Given the description of an element on the screen output the (x, y) to click on. 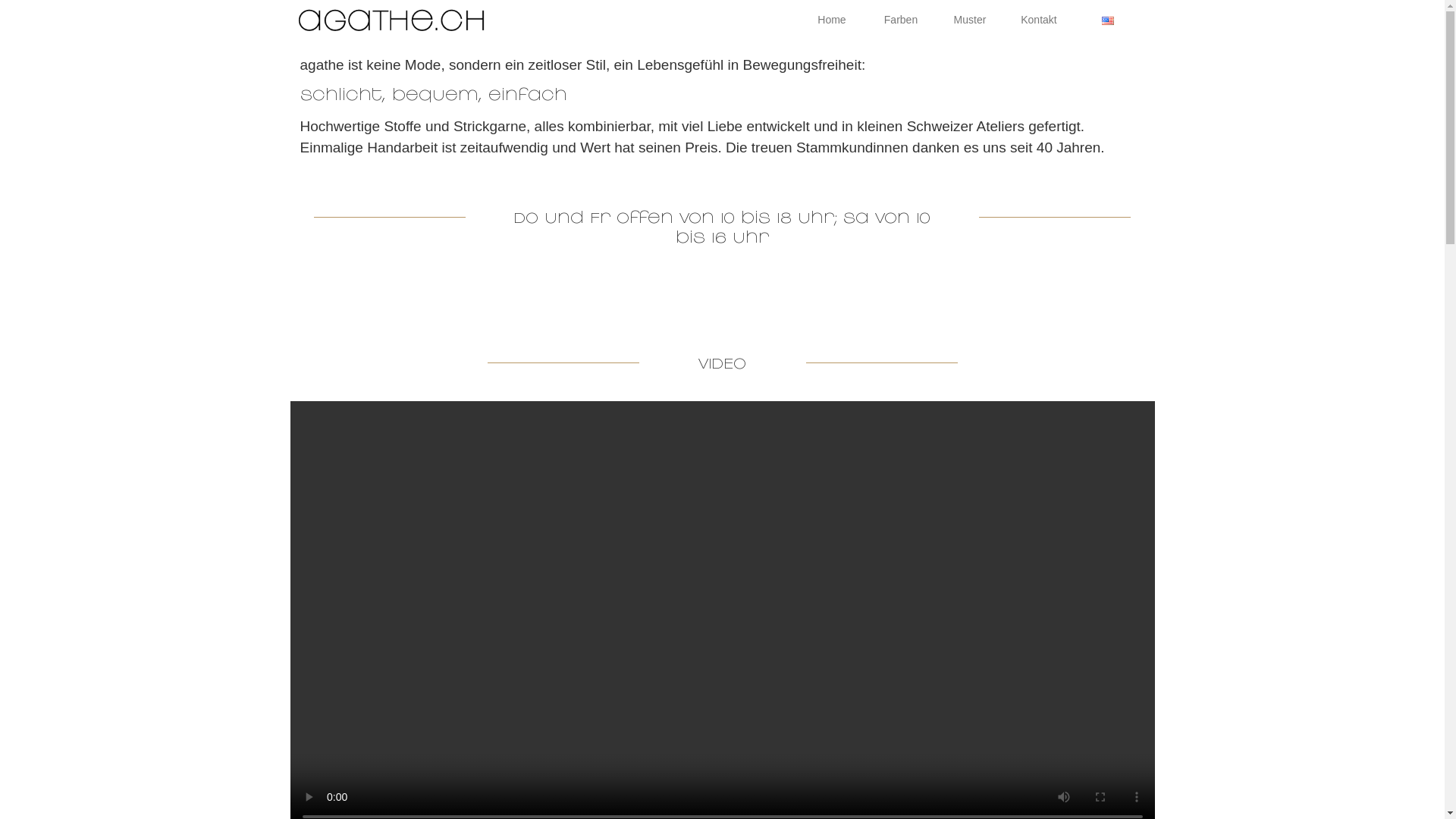
Farben Element type: text (900, 19)
Home Element type: text (831, 19)
Muster Element type: text (969, 19)
Kontakt Element type: text (1038, 19)
